Given the description of an element on the screen output the (x, y) to click on. 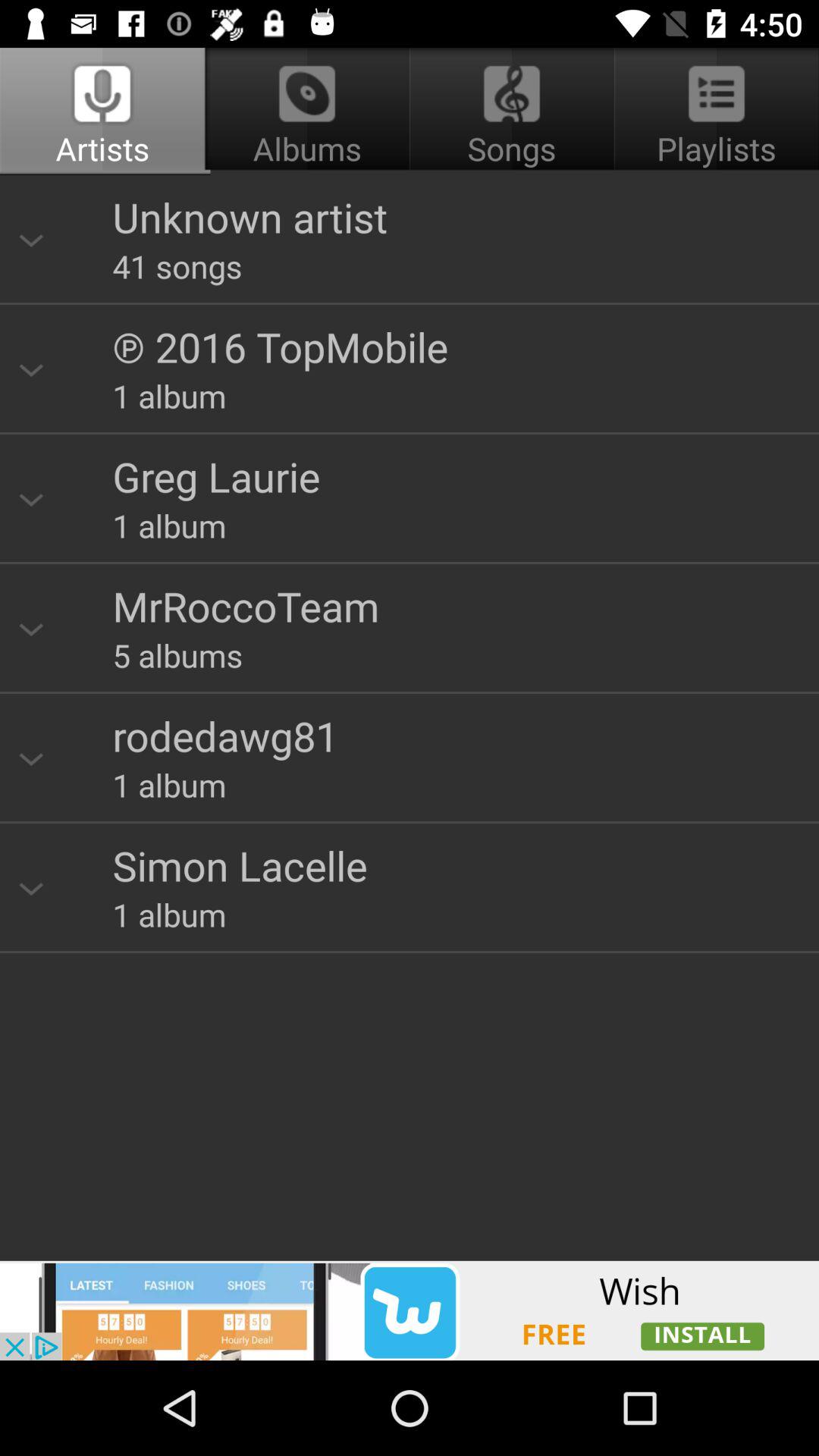
open advertisement (409, 1310)
